Given the description of an element on the screen output the (x, y) to click on. 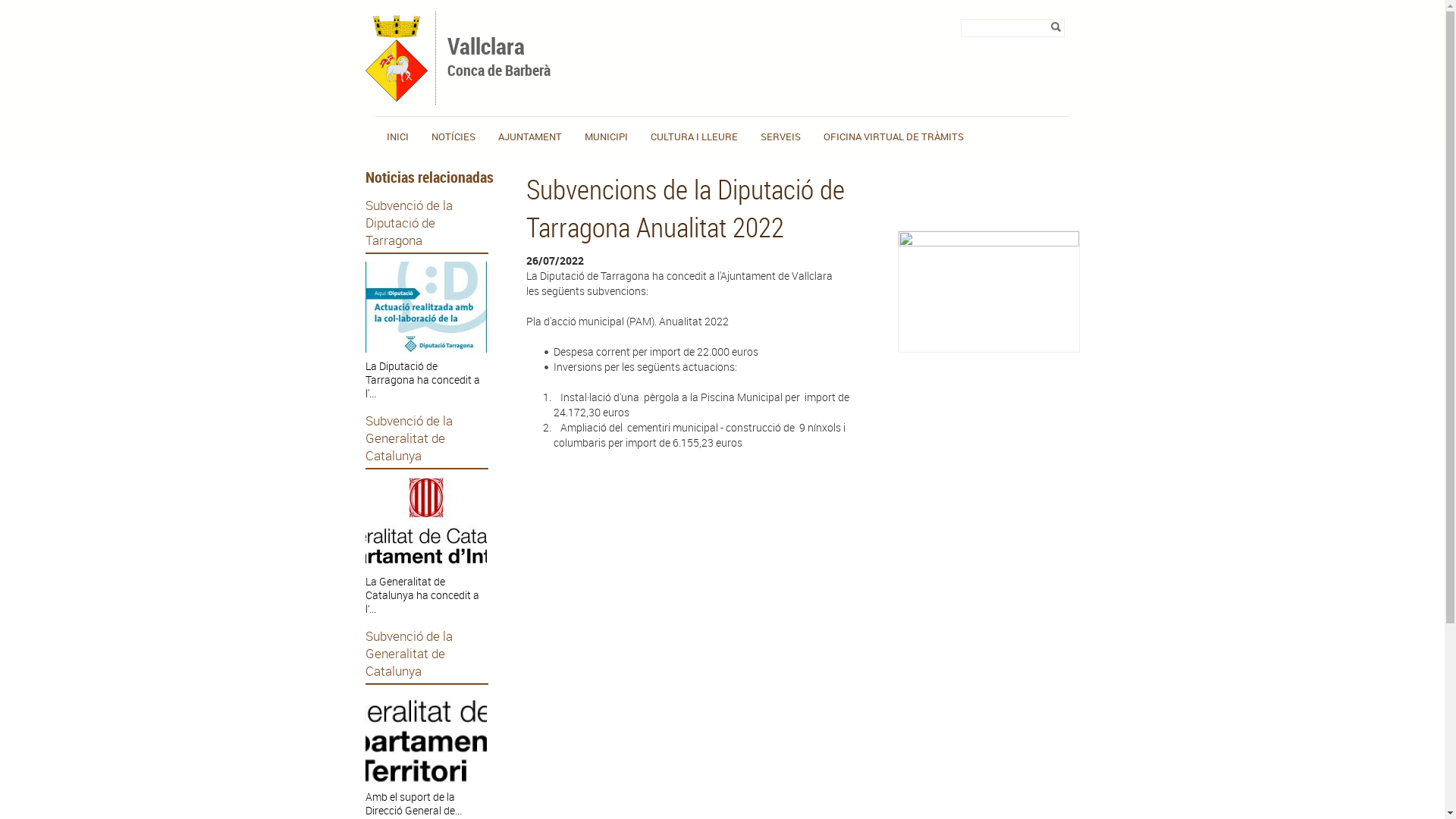
CULTURA I LLEURE Element type: text (693, 136)
Inici Element type: hover (396, 97)
AJUNTAMENT Element type: text (529, 136)
SERVEIS Element type: text (780, 136)
MUNICIPI Element type: text (605, 136)
INICI Element type: text (397, 136)
